Given the description of an element on the screen output the (x, y) to click on. 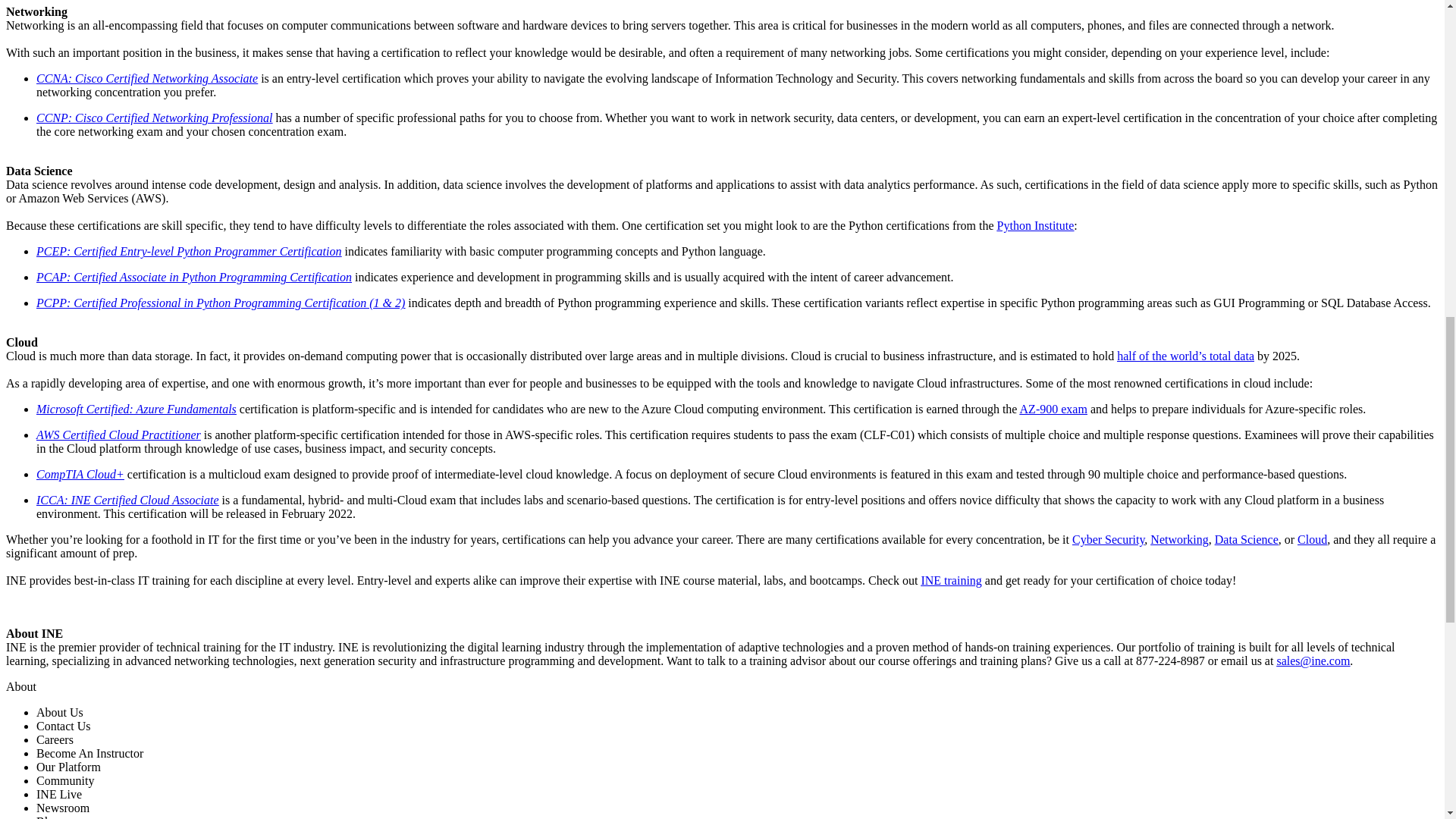
ICCA: INE Certified Cloud Associate (127, 499)
Networking (1179, 539)
Microsoft Certified: Azure Fundamentals (135, 408)
CCNP: Cisco Certified Networking Professional (154, 117)
AZ-900 exam (1053, 408)
Python Institute (1035, 225)
CCNA: Cisco Certified Networking Associate (146, 78)
AWS Certified Cloud Practitioner (118, 434)
Cyber Security (1107, 539)
PCEP: Certified Entry-level Python Programmer Certification (188, 250)
